Given the description of an element on the screen output the (x, y) to click on. 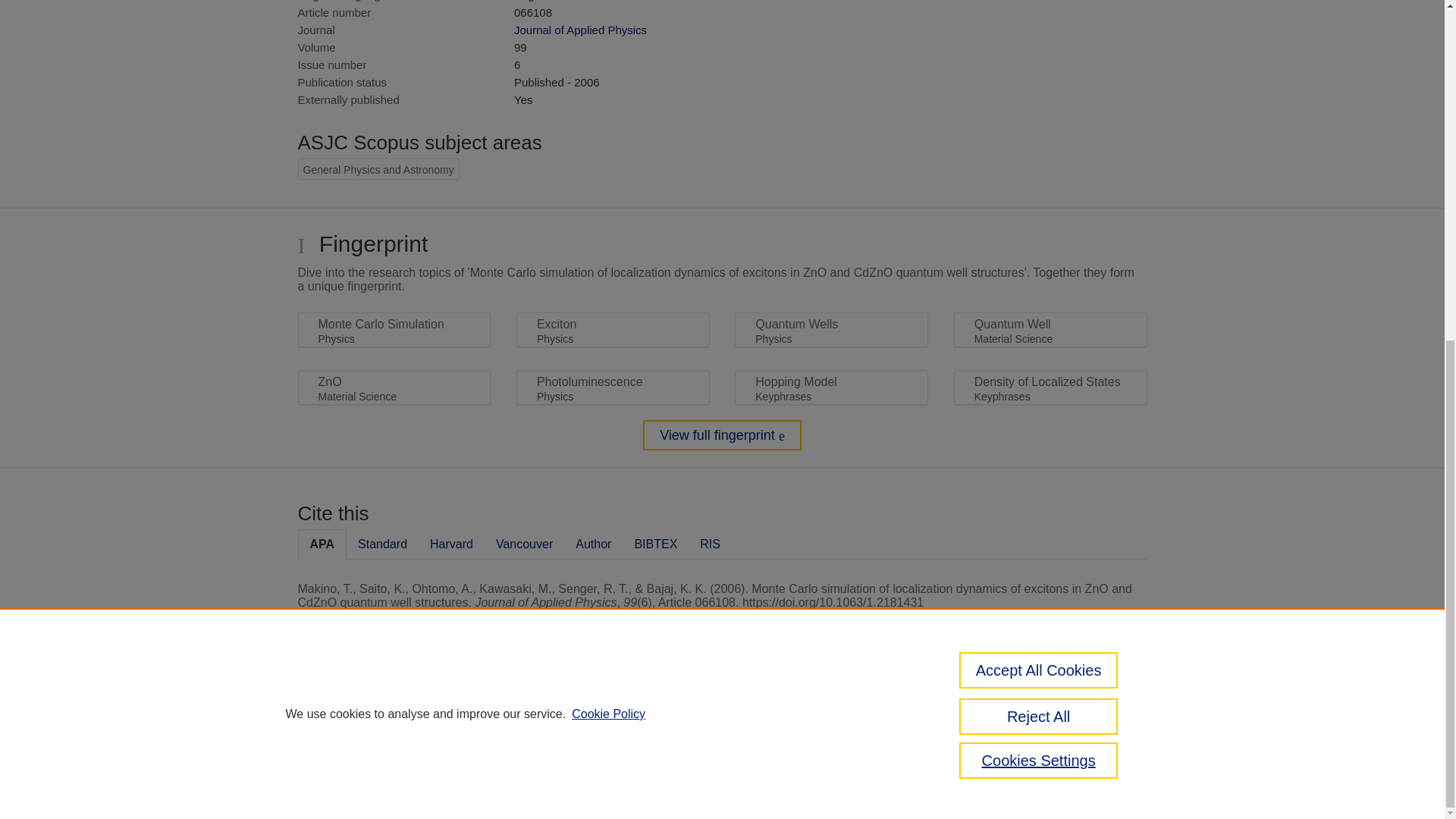
About web accessibility (1088, 713)
use of cookies (796, 760)
Scopus (394, 708)
Cookies Settings (334, 781)
Elsevier B.V. (506, 728)
View full fingerprint (722, 435)
Cookie Policy (608, 135)
Report vulnerability (1088, 745)
Journal of Applied Physics (579, 29)
Pure (362, 708)
